Given the description of an element on the screen output the (x, y) to click on. 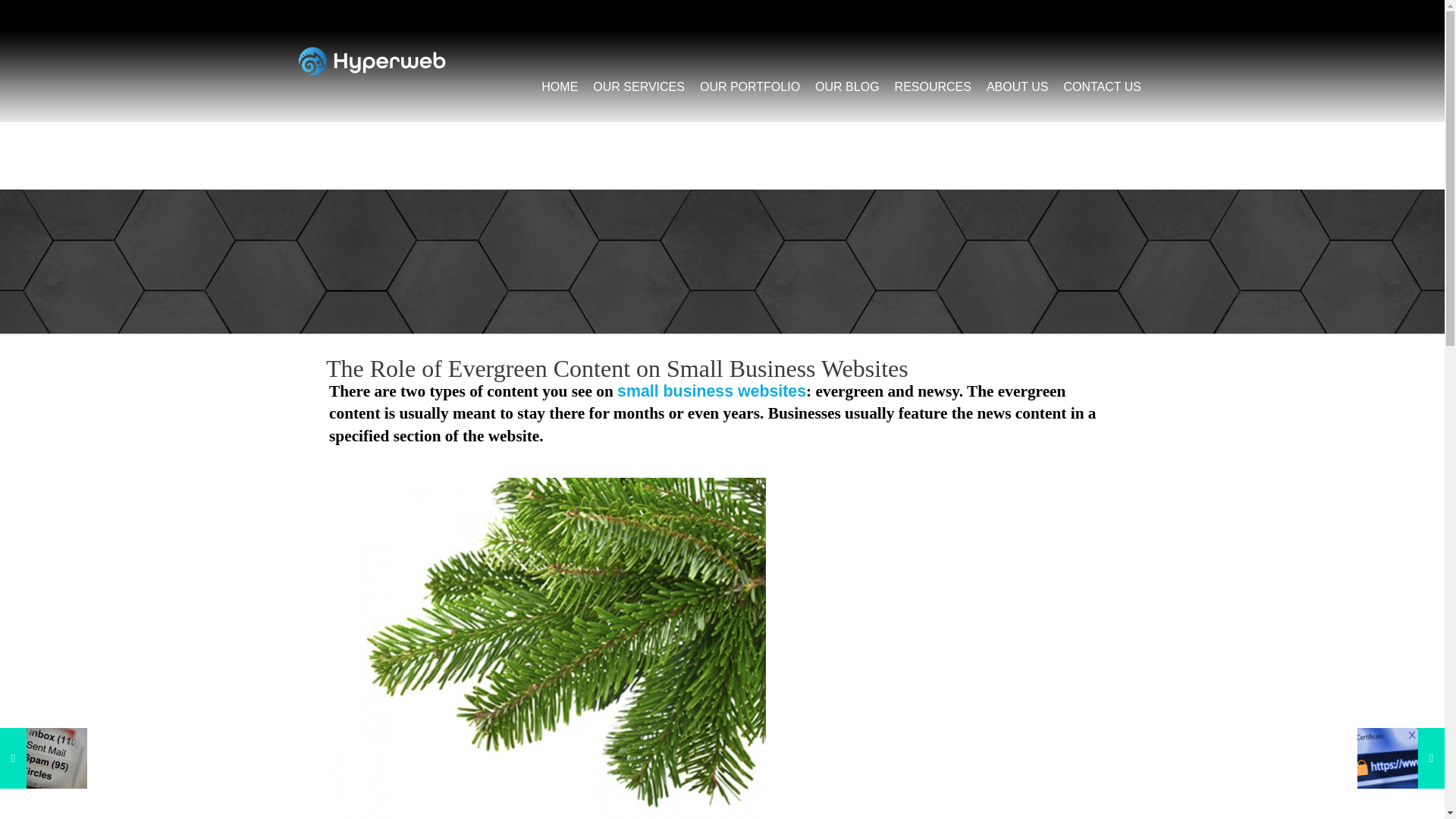
HOME (559, 81)
Web Design Company Toronto (370, 60)
OUR PORTFOLIO (750, 81)
OUR SERVICES (639, 81)
OUR BLOG (847, 81)
